Given the description of an element on the screen output the (x, y) to click on. 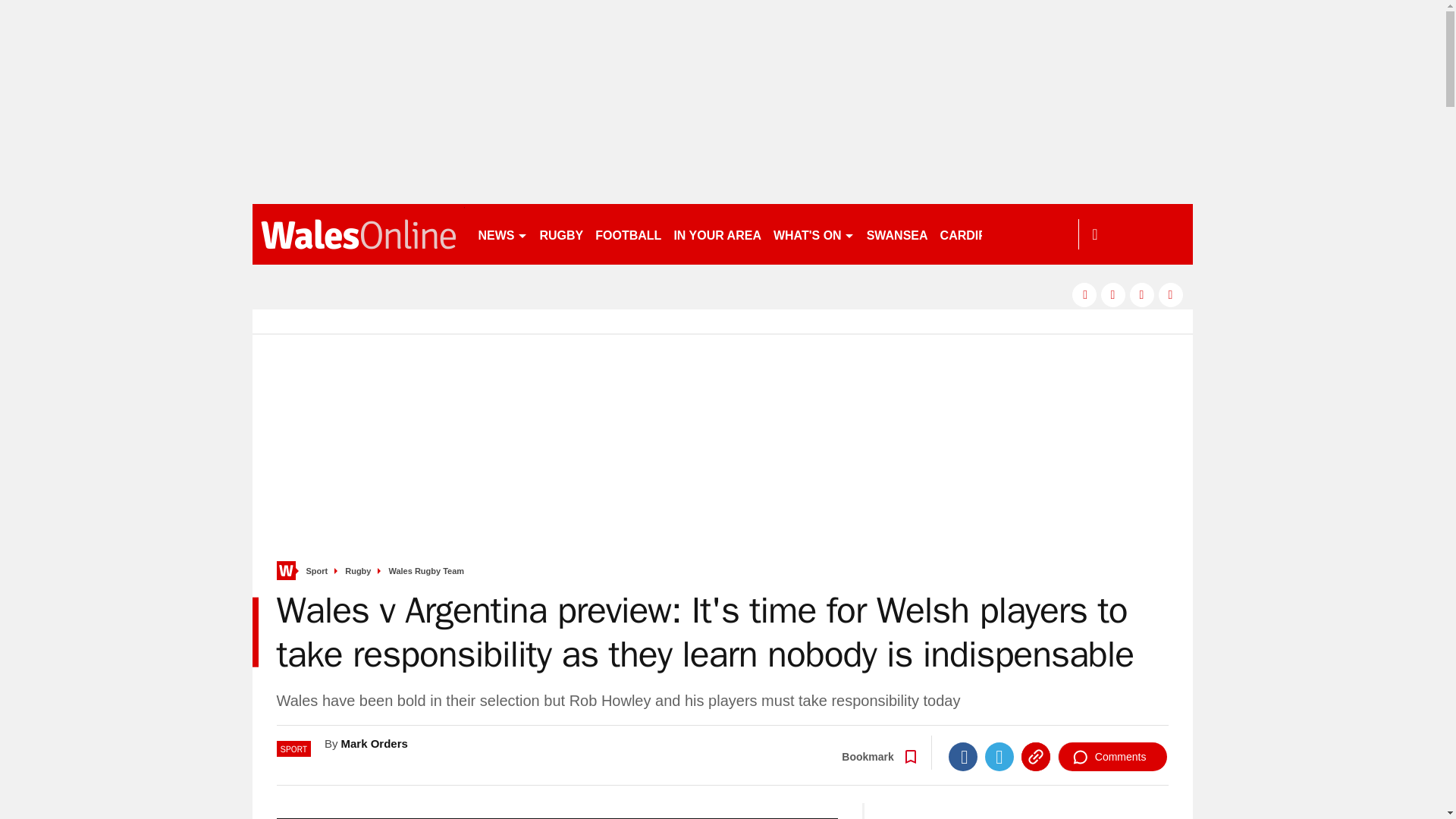
IN YOUR AREA (716, 233)
instagram (1170, 294)
FOOTBALL (627, 233)
Comments (1112, 756)
SWANSEA (897, 233)
walesonline (357, 233)
facebook (1083, 294)
WHAT'S ON (813, 233)
RUGBY (561, 233)
Twitter (999, 756)
twitter (1112, 294)
NEWS (501, 233)
Facebook (962, 756)
pinterest (1141, 294)
